Given the description of an element on the screen output the (x, y) to click on. 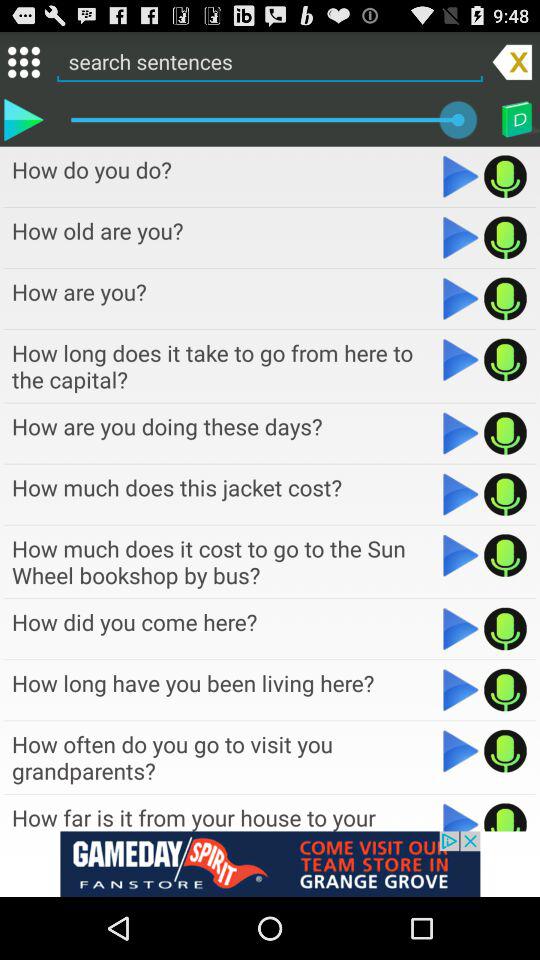
go to record (505, 298)
